Given the description of an element on the screen output the (x, y) to click on. 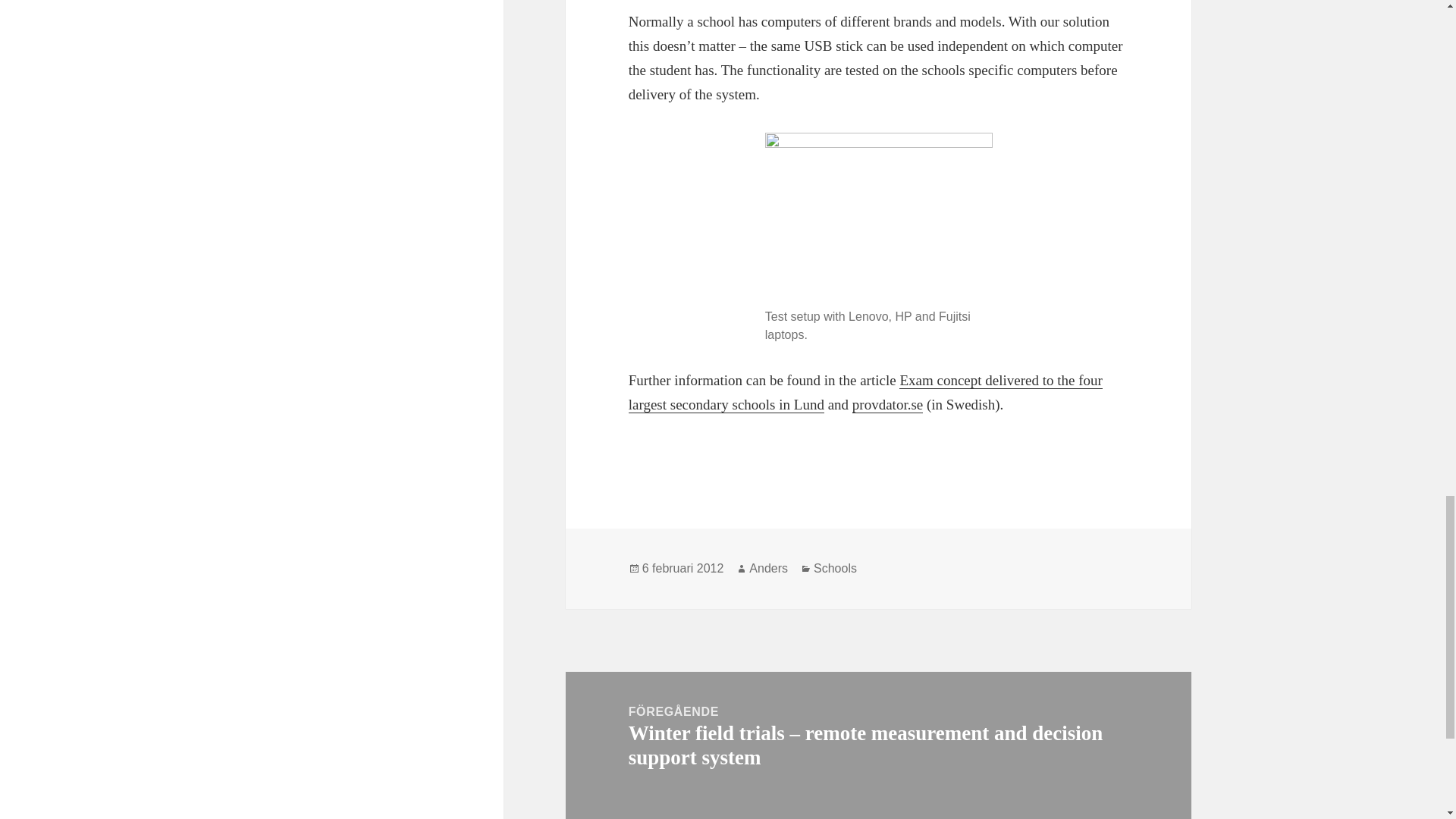
Schools (835, 568)
Anders (768, 568)
6 februari 2012 (682, 568)
provdator.se (887, 404)
